Given the description of an element on the screen output the (x, y) to click on. 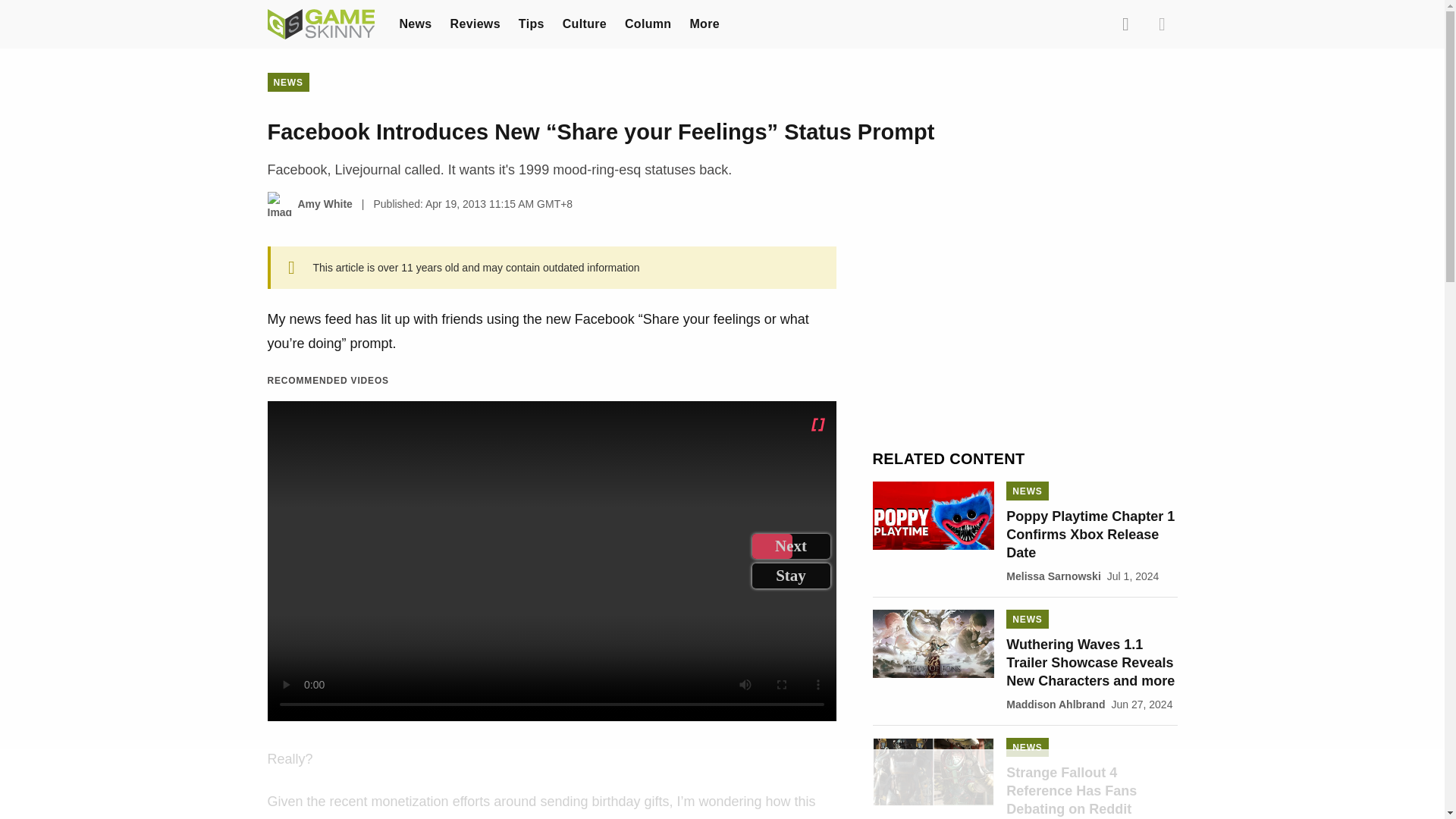
Tips (531, 23)
Search (1124, 24)
Melissa Sarnowski (1053, 576)
Column (647, 23)
NEWS (1027, 490)
News (414, 23)
Reviews (474, 23)
Dark Mode (1161, 24)
NEWS (287, 81)
Culture (584, 23)
3rd party ad content (721, 785)
3rd party ad content (1024, 340)
